Given the description of an element on the screen output the (x, y) to click on. 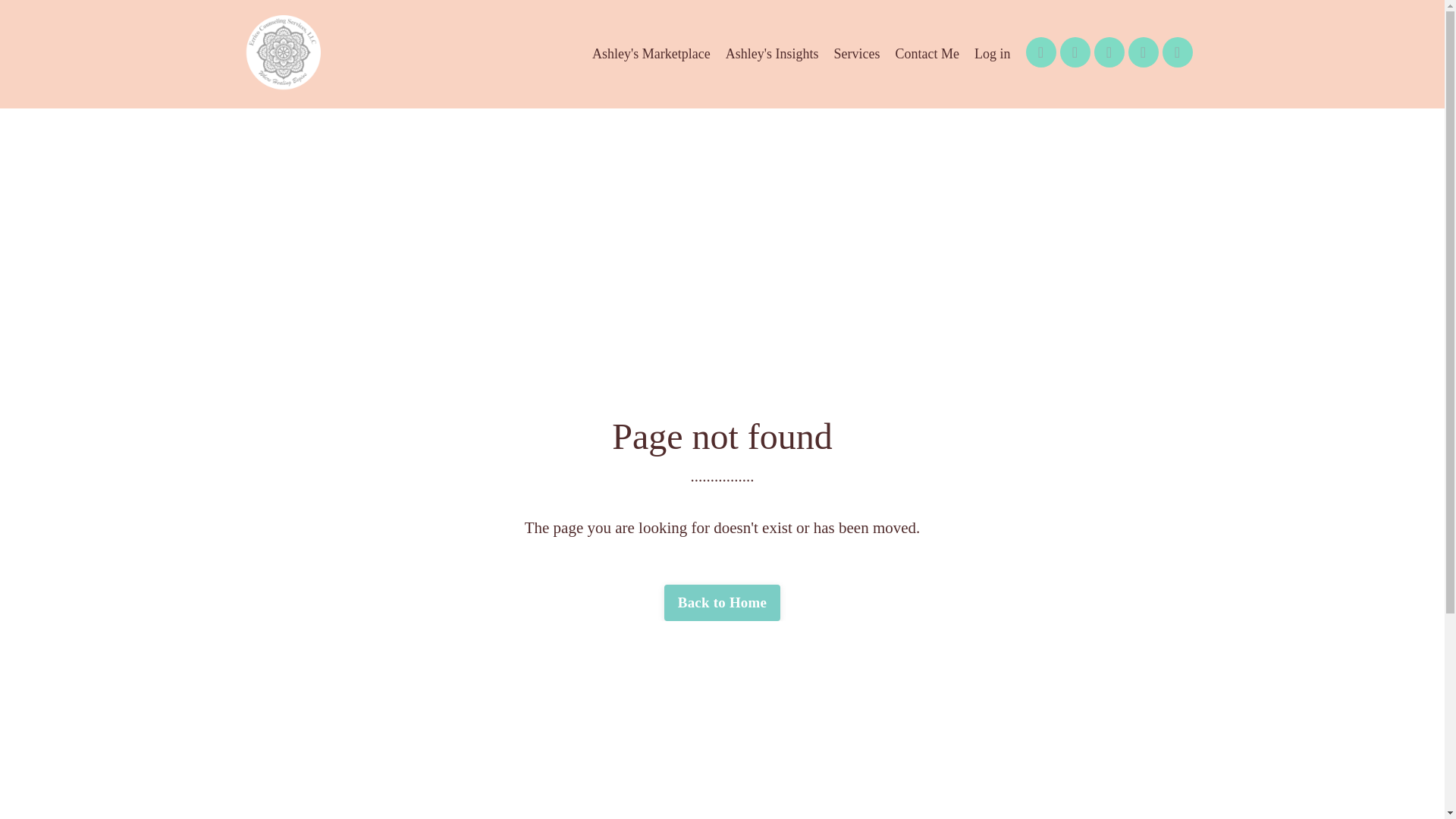
Ashley's Marketplace (651, 54)
Services (857, 54)
Back to Home (721, 602)
Contact Me (927, 54)
Ashley's Insights (771, 54)
Log in (992, 54)
